Given the description of an element on the screen output the (x, y) to click on. 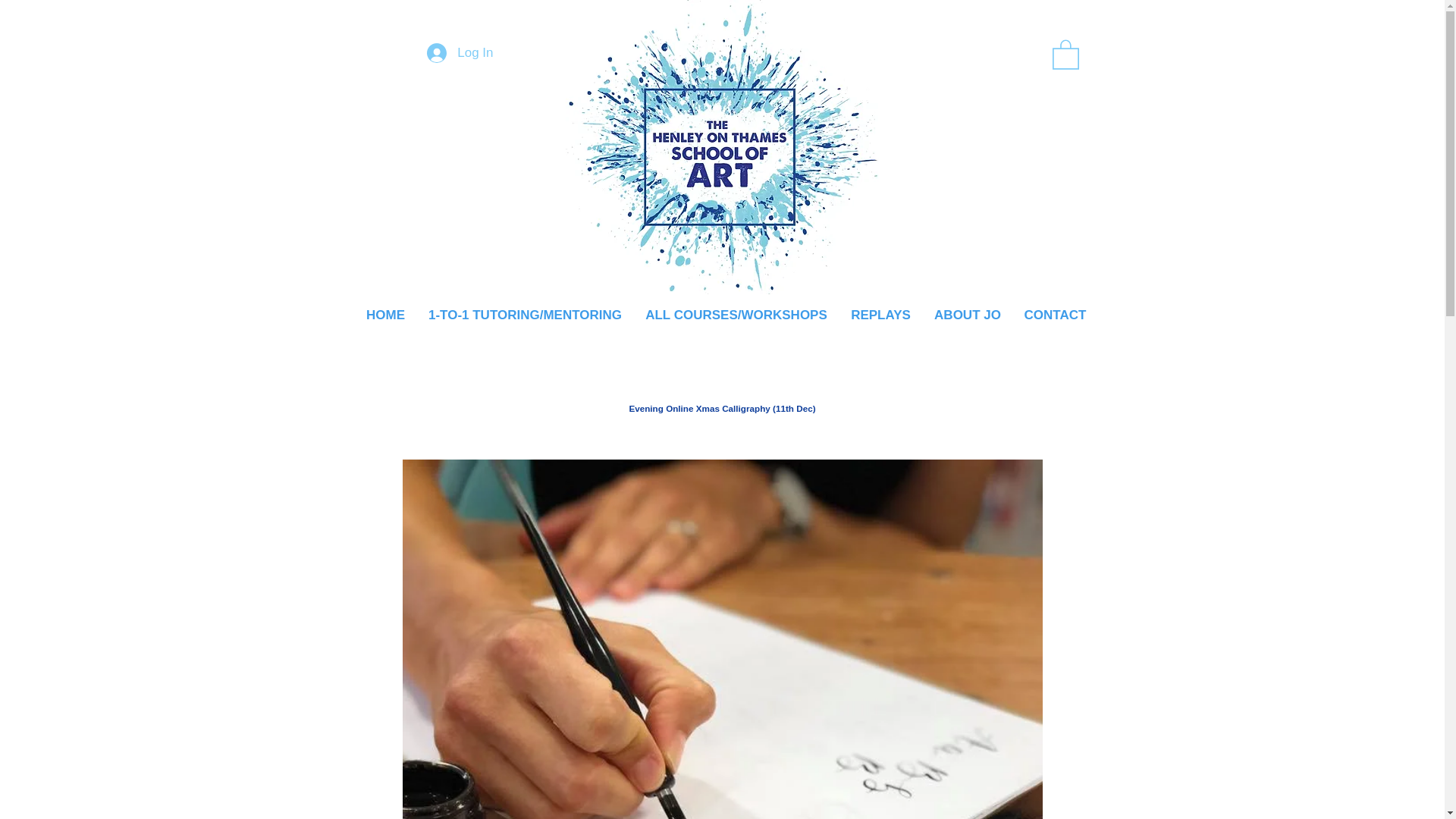
ABOUT JO (966, 315)
REPLAYS (879, 315)
HOME (385, 315)
CONTACT (1055, 315)
Log In (459, 52)
